Given the description of an element on the screen output the (x, y) to click on. 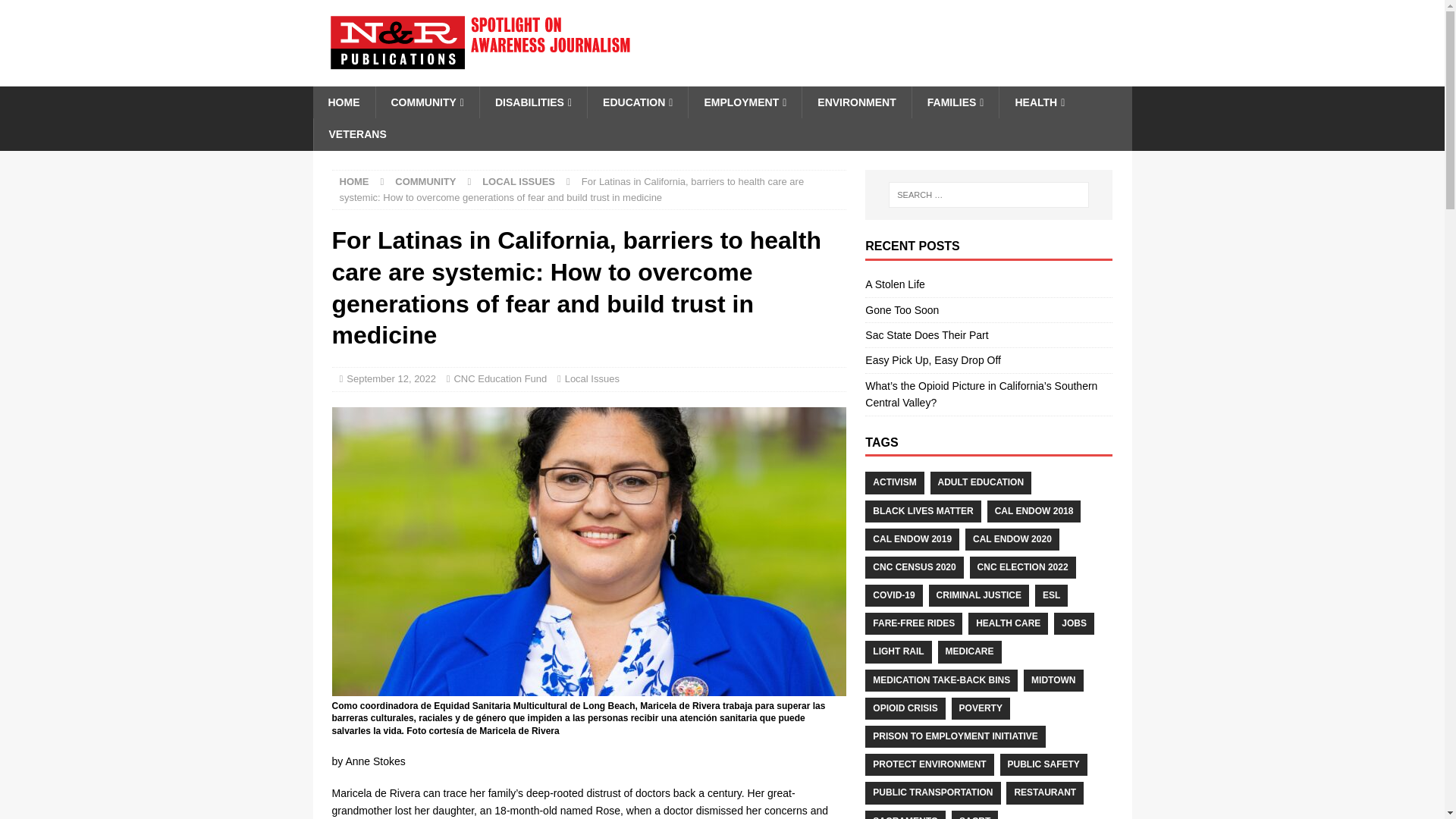
EDUCATION (636, 101)
LOCAL ISSUES (517, 181)
VETERANS (357, 133)
September 12, 2022 (390, 378)
DISABILITIES (532, 101)
COMMUNITY (426, 101)
FAMILIES (954, 101)
HOME (343, 101)
COMMUNITY (424, 181)
ENVIRONMENT (856, 101)
